Given the description of an element on the screen output the (x, y) to click on. 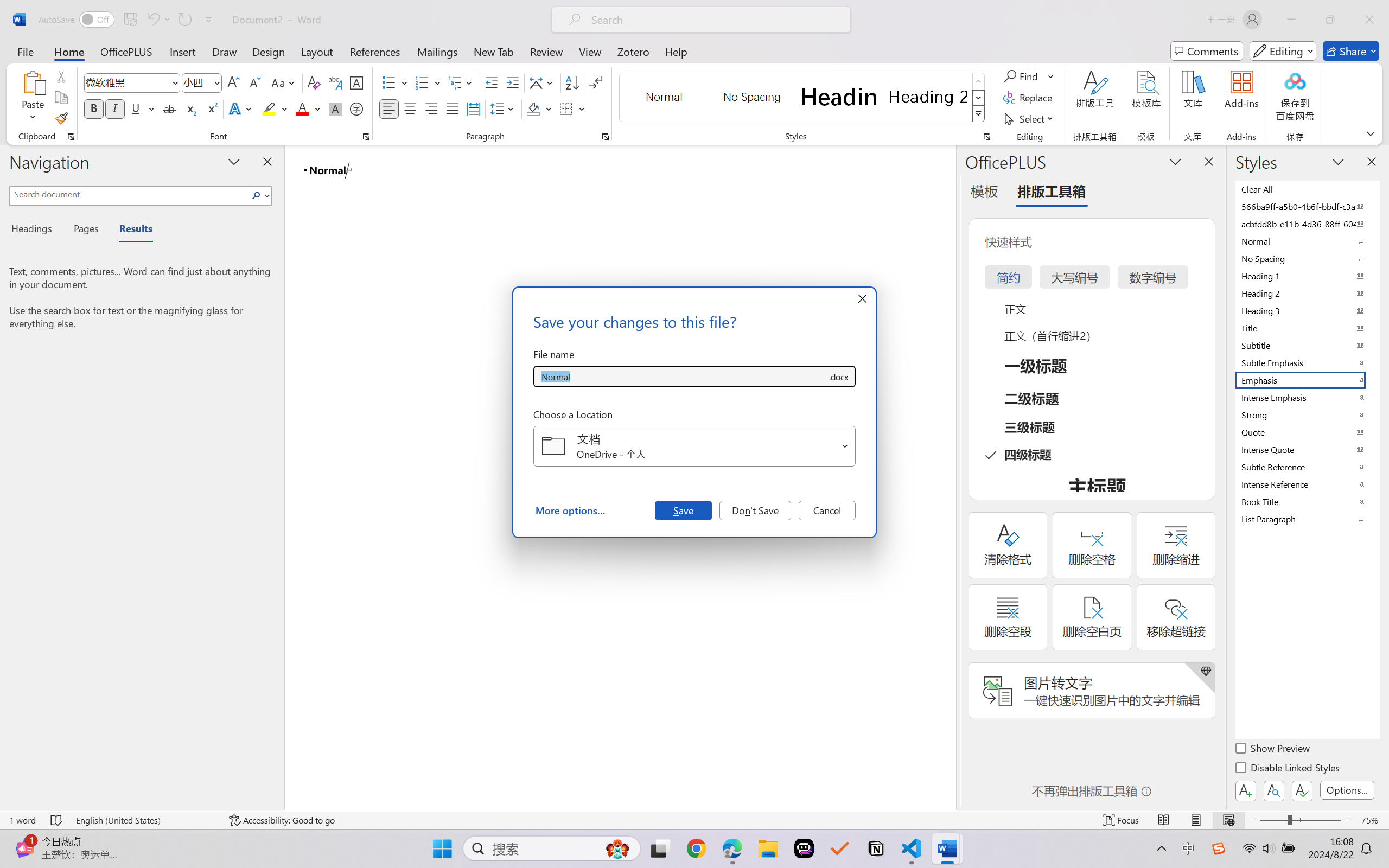
Search document (128, 193)
Bold (94, 108)
Heading 3 (1306, 310)
Numbering (428, 82)
Font (126, 82)
Options... (1346, 789)
Change Case (284, 82)
File name (680, 376)
No Spacing (1306, 258)
Web Layout (1228, 819)
